Given the description of an element on the screen output the (x, y) to click on. 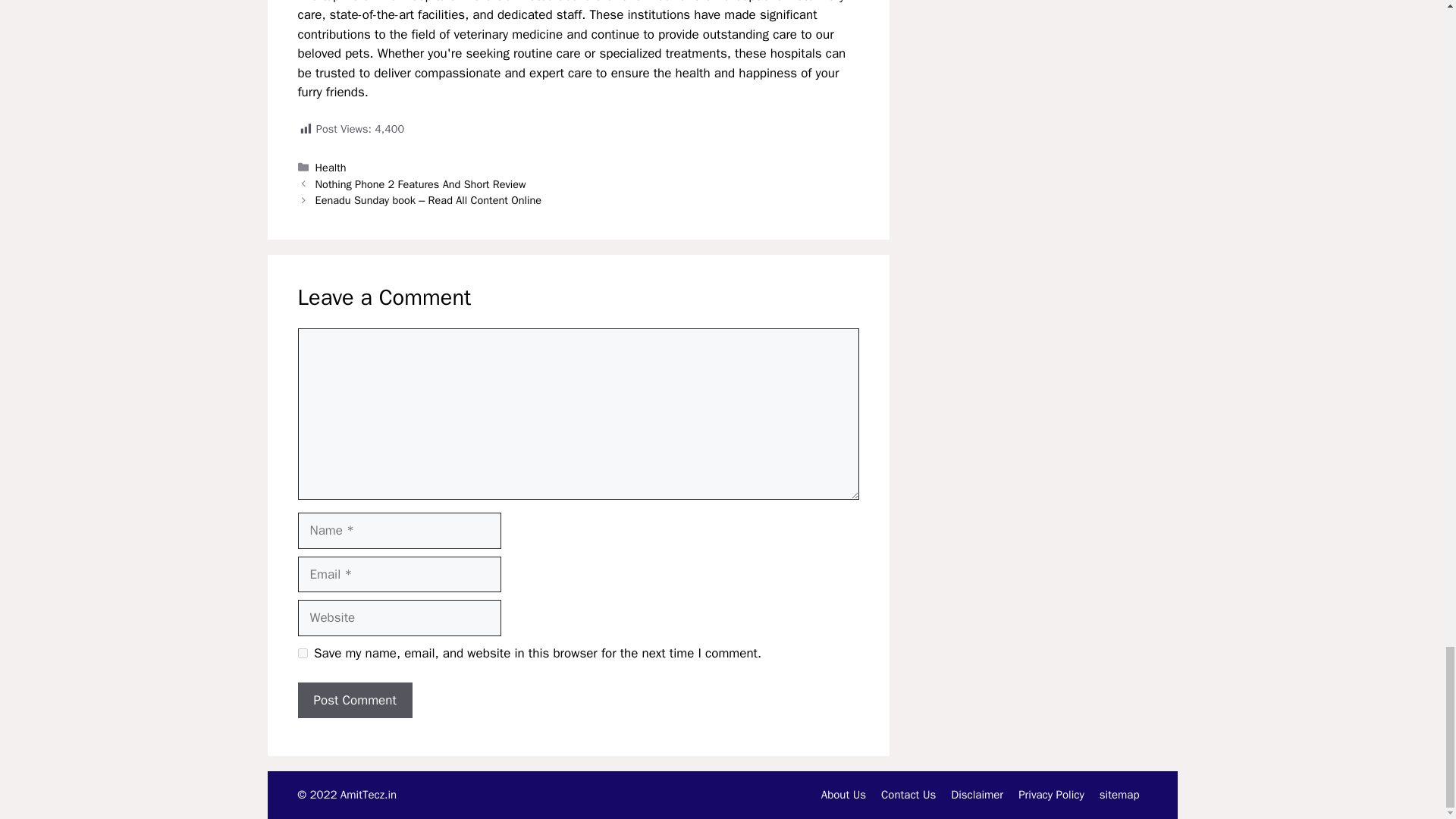
yes (302, 653)
Post Comment (354, 700)
Health (330, 167)
Post Comment (354, 700)
Nothing Phone 2 Features And Short Review (420, 183)
